Given the description of an element on the screen output the (x, y) to click on. 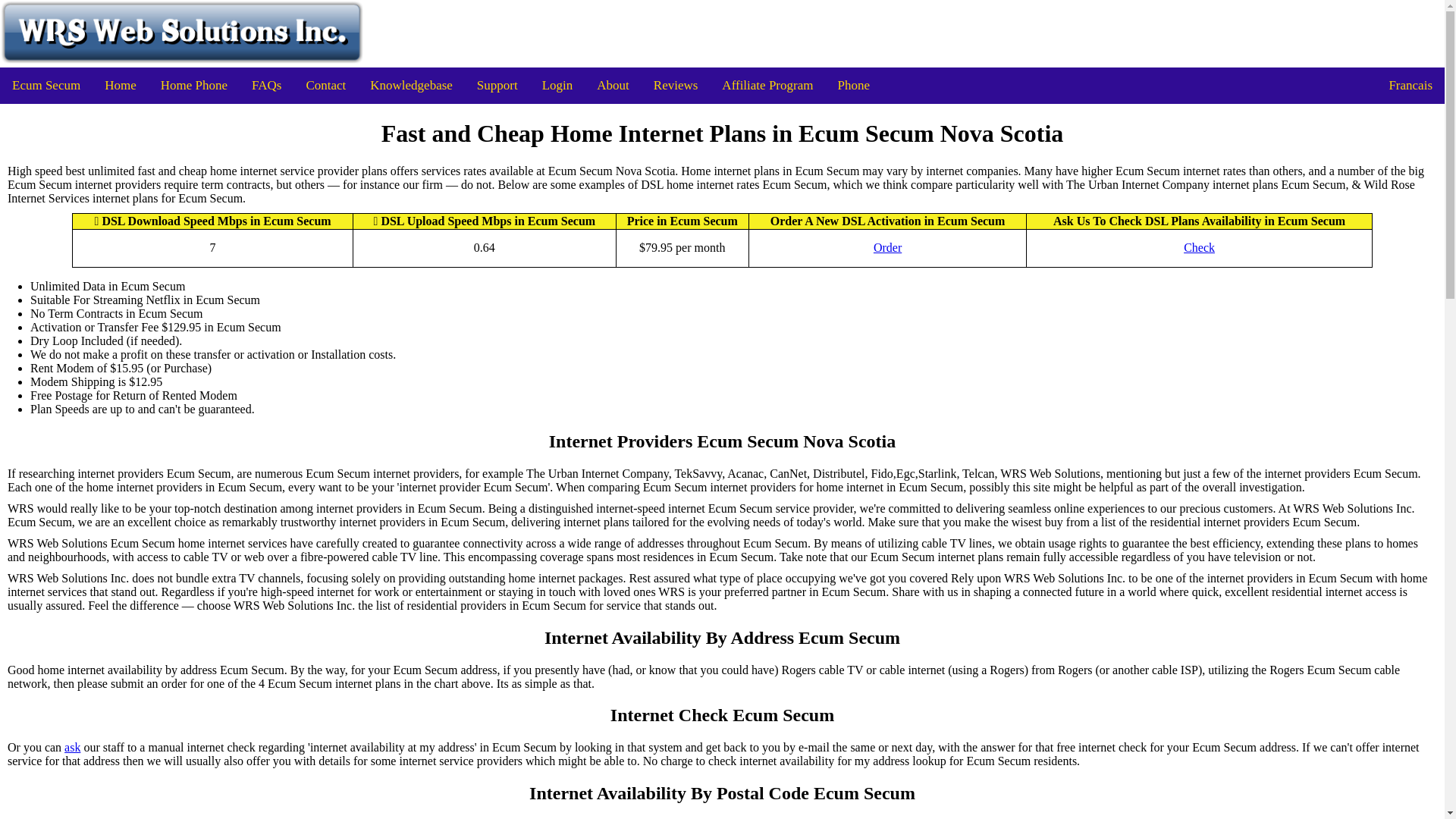
About (613, 85)
Knowledgebase (411, 85)
Ecum Secum (46, 85)
Contact (326, 85)
Home (120, 85)
Order (887, 247)
Check (1198, 247)
ask (72, 747)
Login (557, 85)
Phone (853, 85)
